Given the description of an element on the screen output the (x, y) to click on. 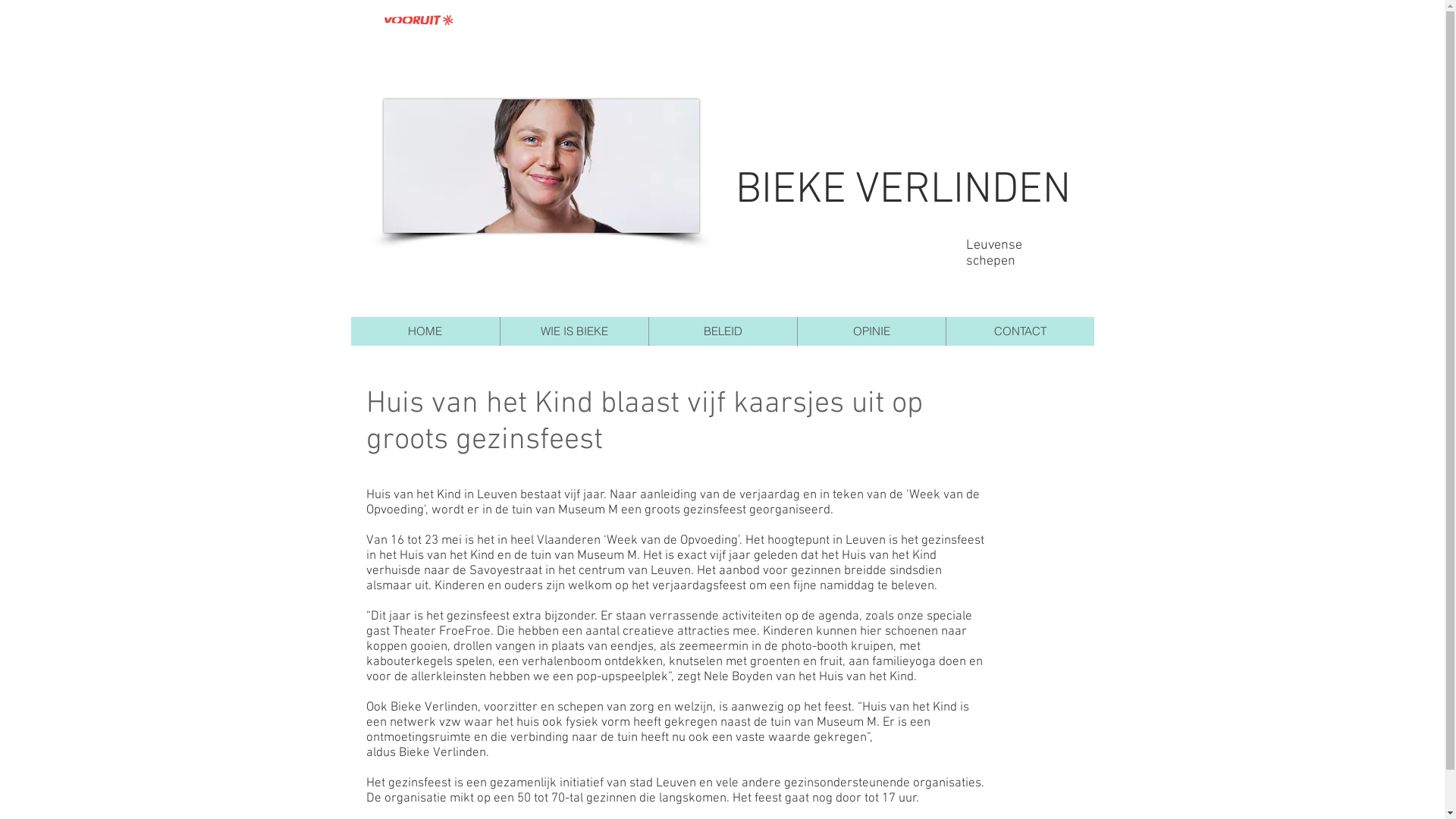
OPINIE Element type: text (870, 330)
WIE IS BIEKE Element type: text (572, 330)
CONTACT Element type: text (1018, 330)
BELEID Element type: text (721, 330)
HOME Element type: text (424, 330)
